Given the description of an element on the screen output the (x, y) to click on. 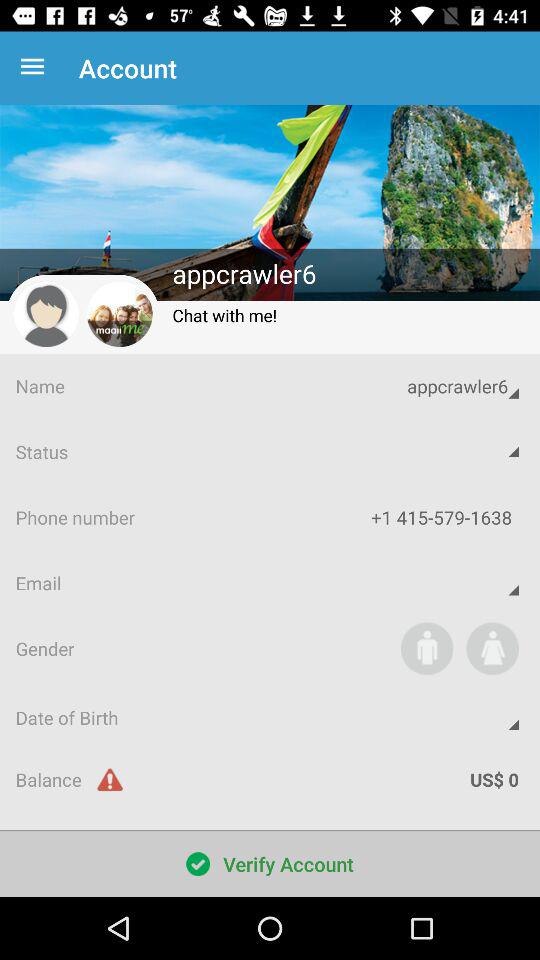
turn off the item next to account (36, 68)
